Given the description of an element on the screen output the (x, y) to click on. 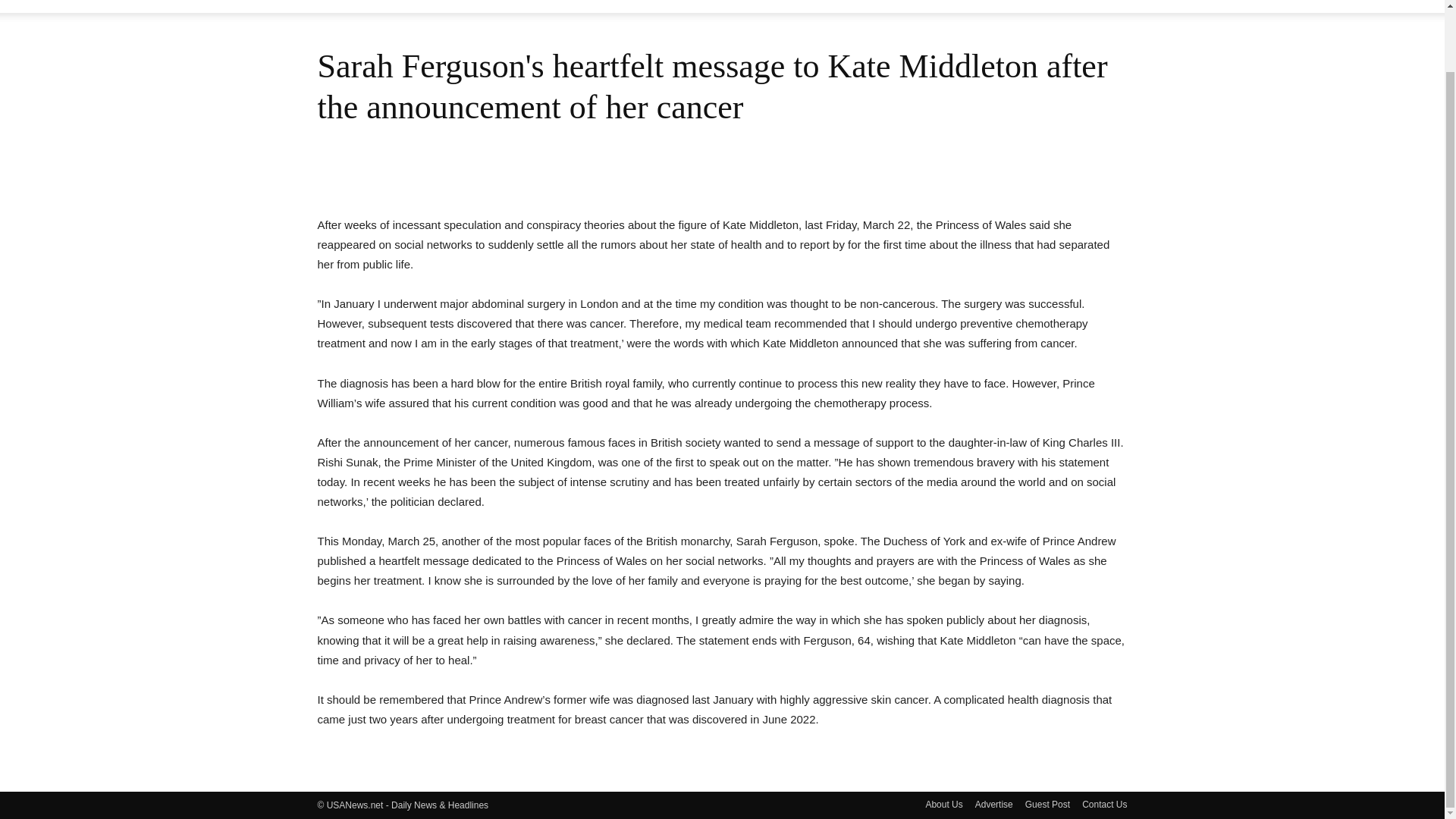
Contact Us (1103, 804)
About Us (943, 804)
POLITICS (920, 6)
ENTERTAINMENT (733, 6)
Daily News and Headlines from US (348, 6)
Advertise (994, 804)
Guest Post (1047, 804)
BUSINESS (634, 6)
BREAKING (554, 6)
SPORTS (990, 6)
TECHNOLOGY (1074, 6)
LIFE STYLE (838, 6)
